Given the description of an element on the screen output the (x, y) to click on. 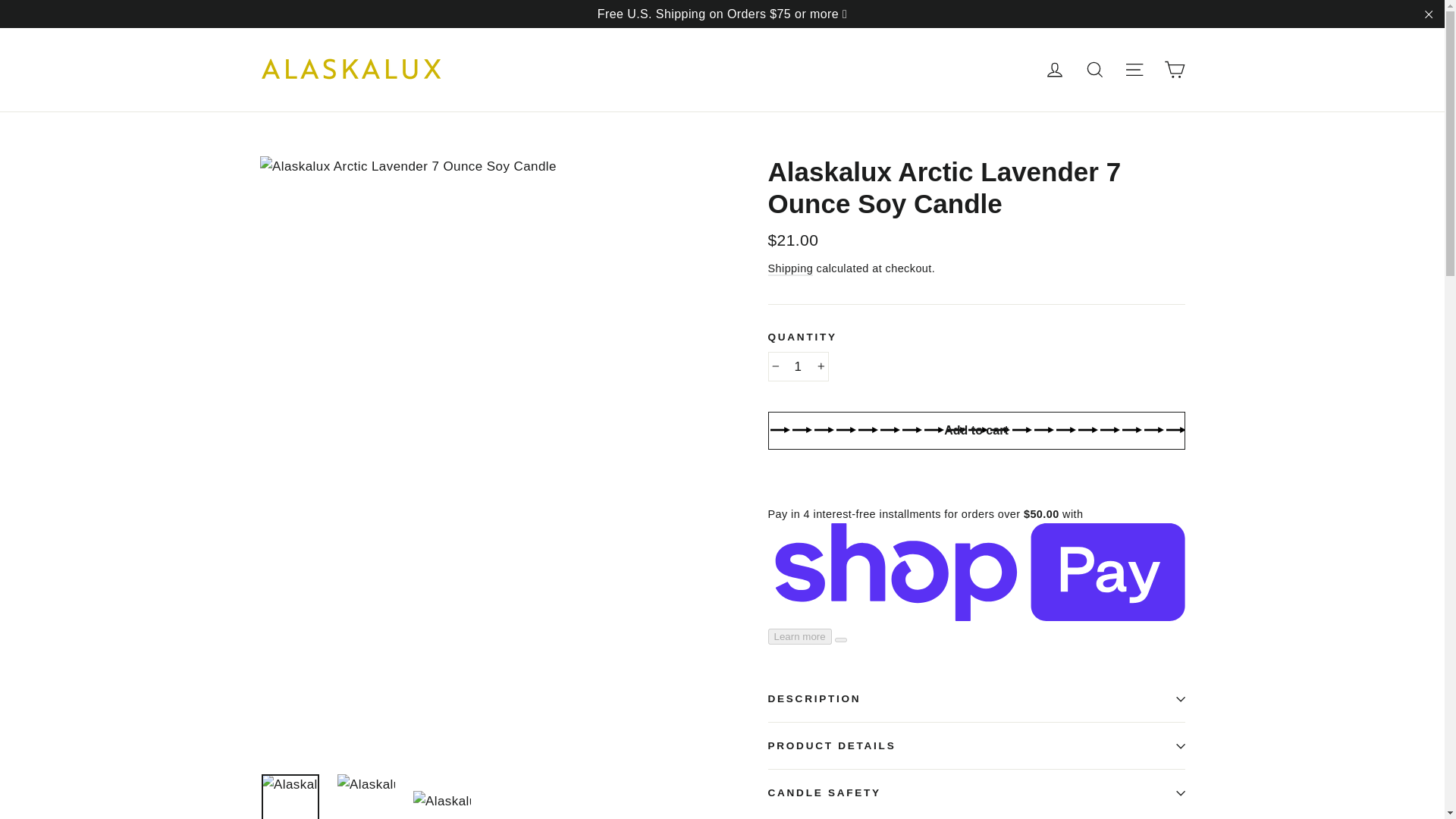
Cart (1173, 69)
Search (1095, 69)
1 (797, 366)
Log in (1054, 69)
Site navigation (1134, 69)
